Given the description of an element on the screen output the (x, y) to click on. 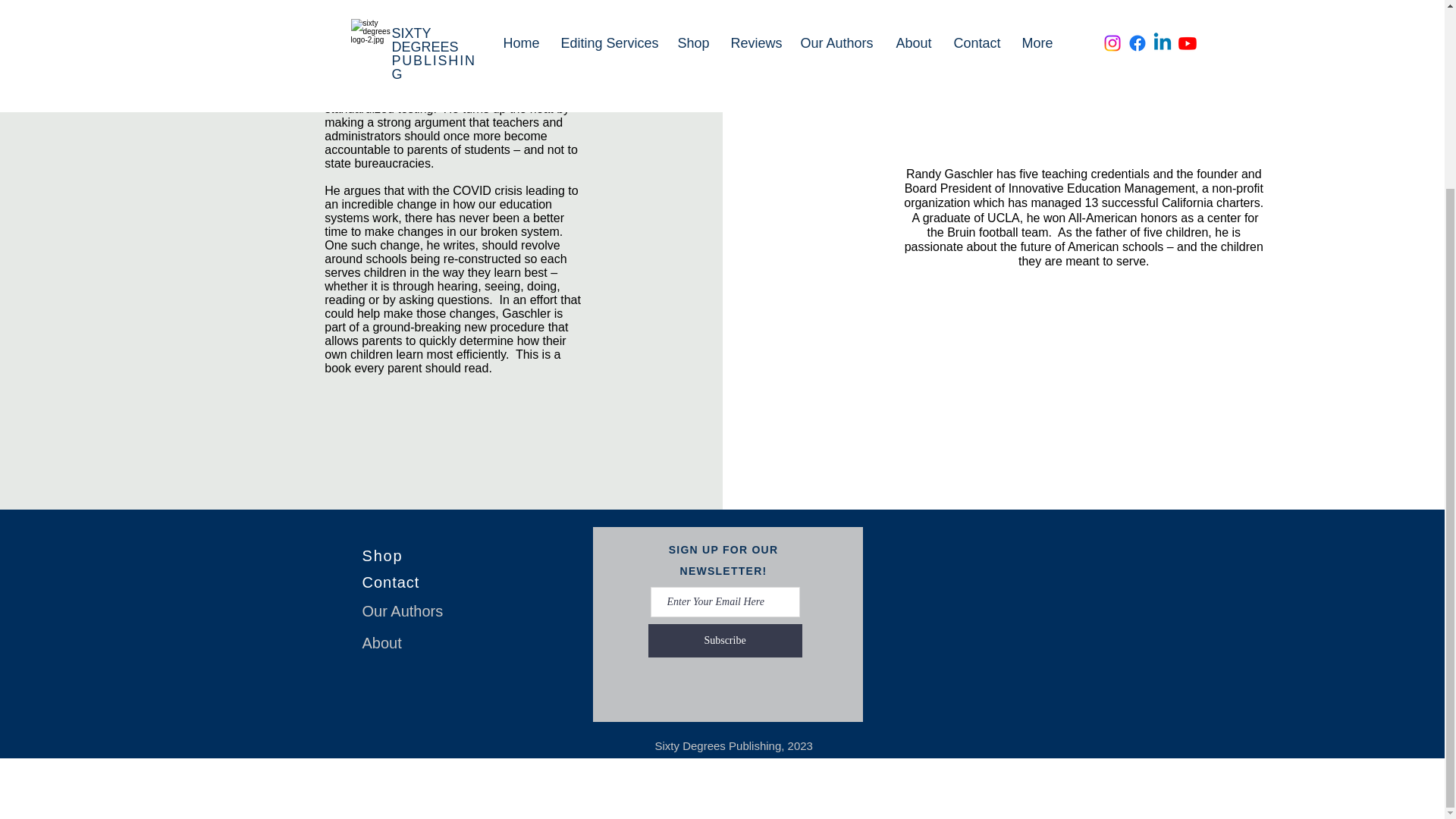
Our Authors (403, 610)
Contact (391, 582)
Subscribe (724, 640)
Shop (382, 555)
About (381, 642)
